Given the description of an element on the screen output the (x, y) to click on. 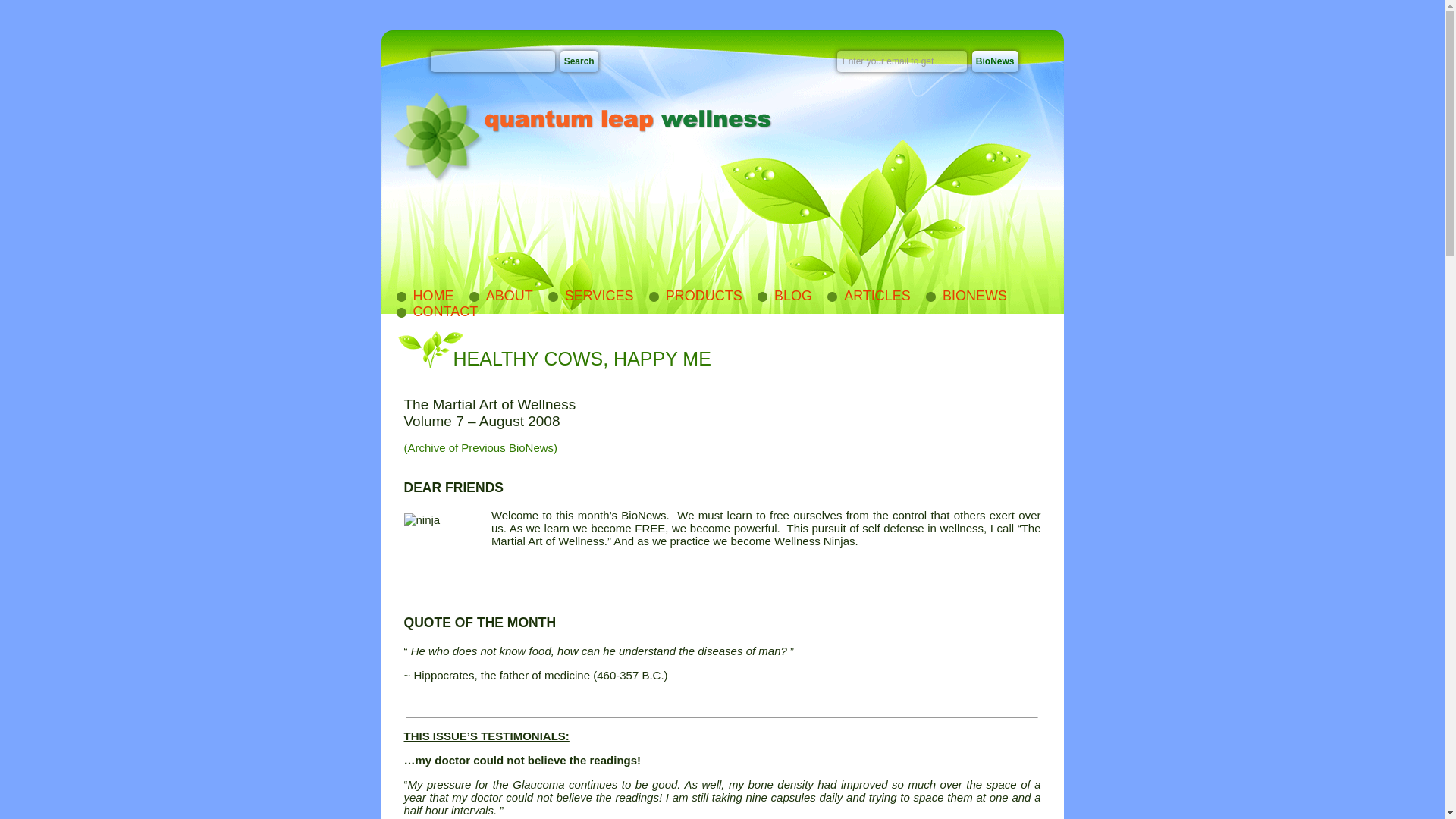
Search (579, 61)
ABOUT (499, 295)
BLOG (783, 295)
PRODUCTS (694, 295)
BioNews (994, 61)
ARTICLES (868, 295)
Enter your email to get (901, 61)
SERVICES (590, 295)
Search (579, 61)
BIONEWS (965, 295)
